Given the description of an element on the screen output the (x, y) to click on. 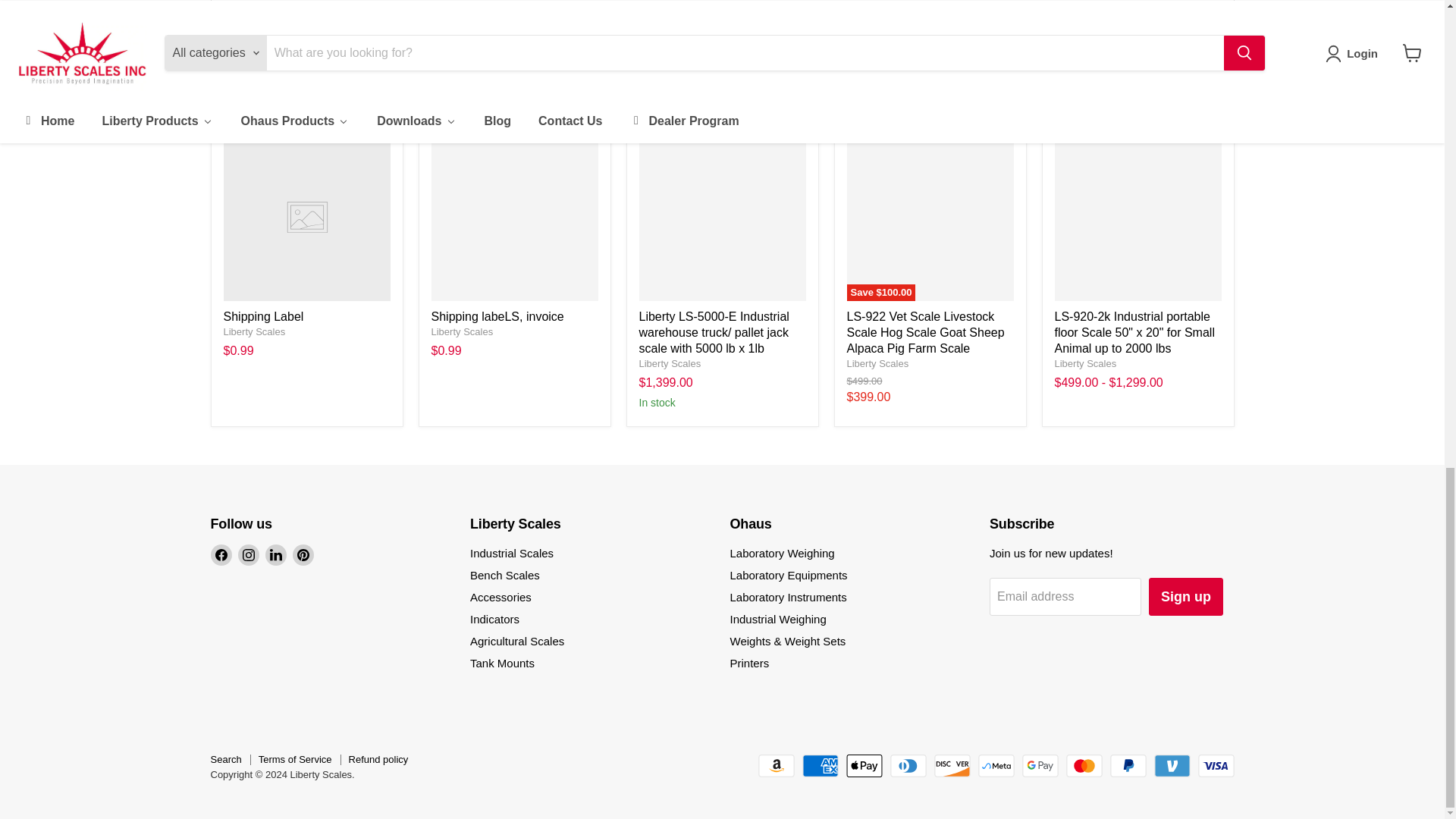
Amazon (776, 765)
